Given the description of an element on the screen output the (x, y) to click on. 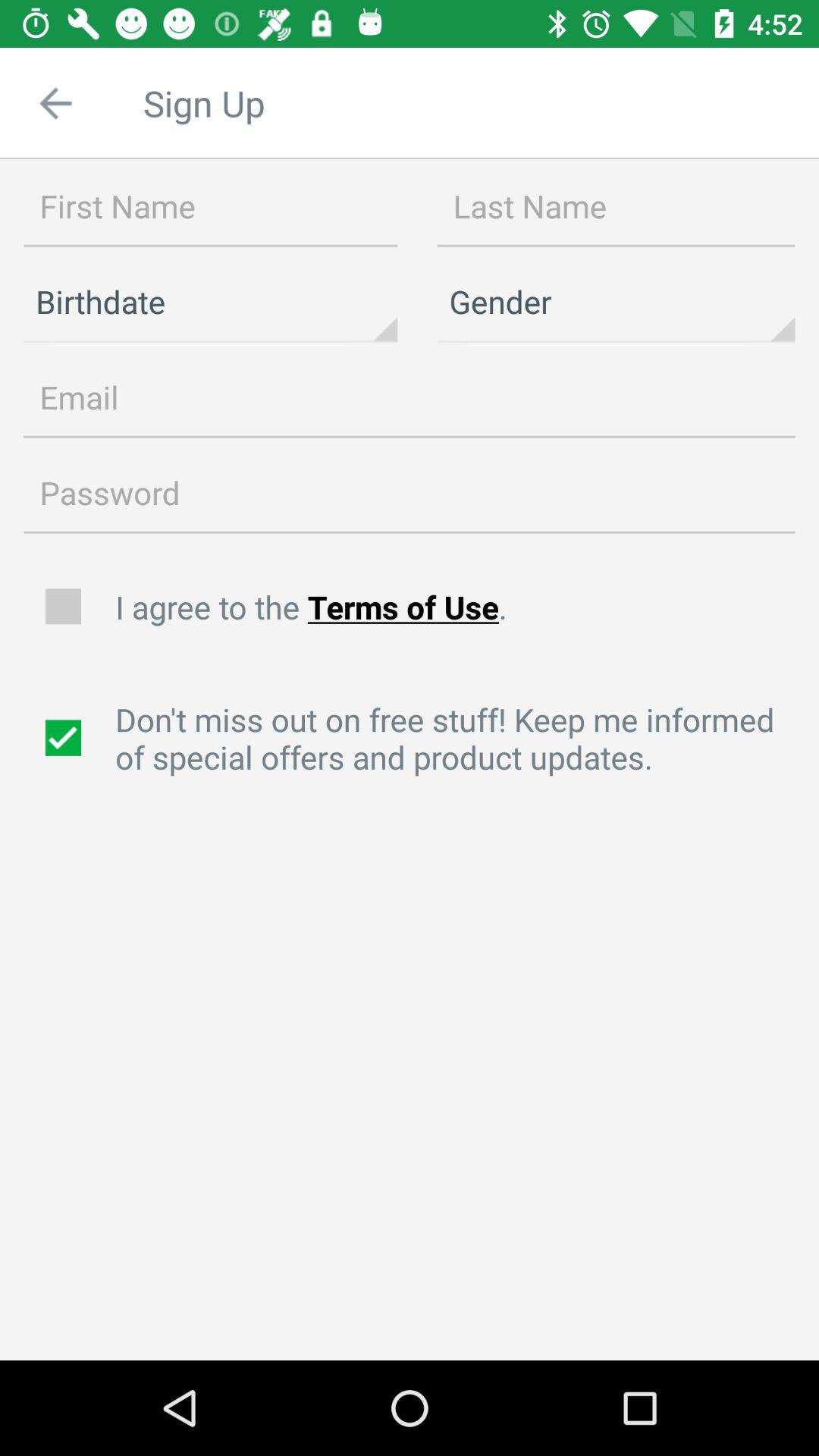
tap the gender icon (616, 302)
